Given the description of an element on the screen output the (x, y) to click on. 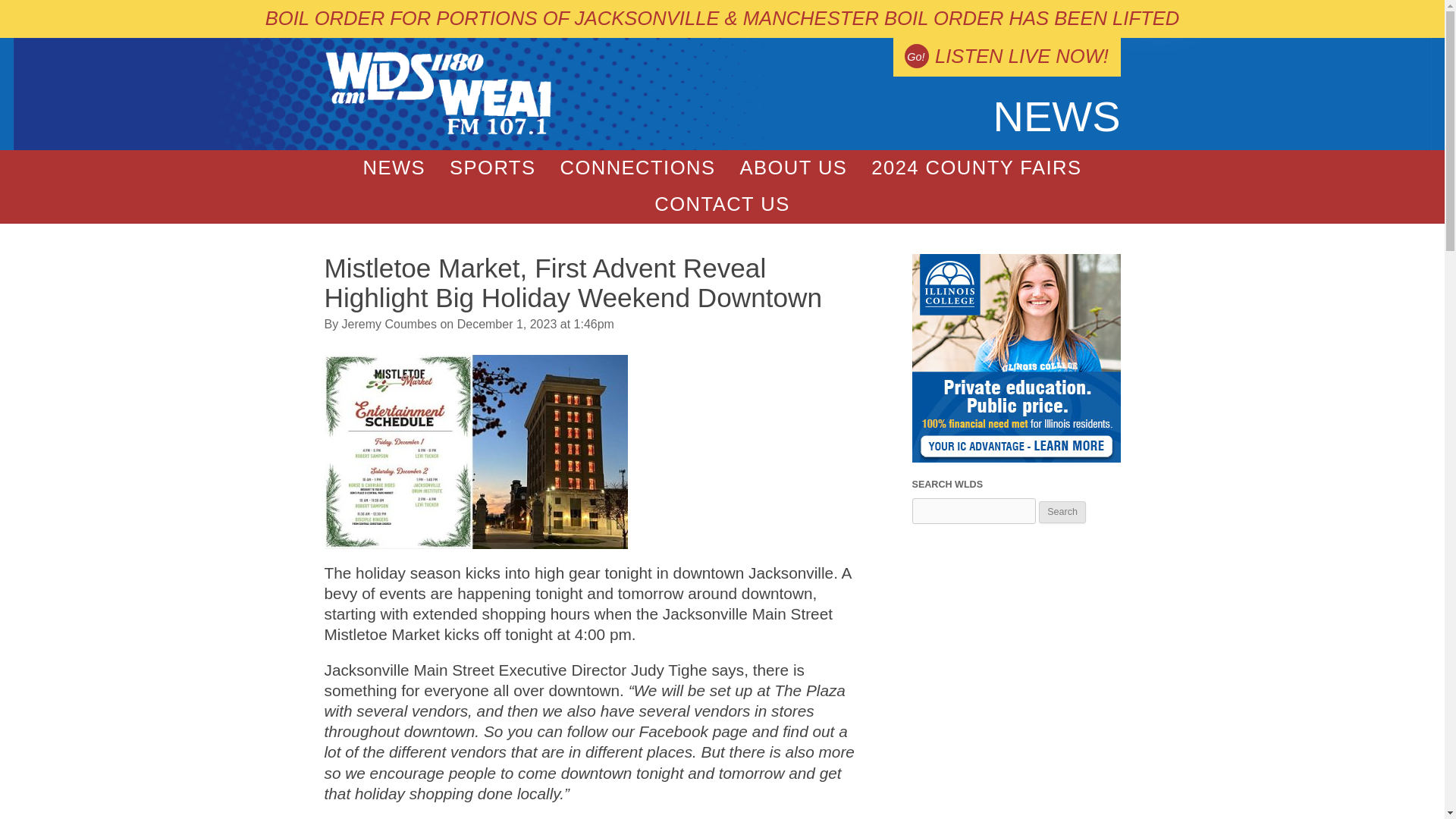
Search (1062, 512)
CONTACT US (722, 204)
ABOUT US (792, 167)
CONNECTIONS (636, 167)
WLDS (437, 131)
NEWS (394, 167)
Search (1062, 512)
2024 COUNTY FAIRS (976, 167)
SPORTS (492, 167)
LISTEN LIVE NOW! (1006, 56)
